Given the description of an element on the screen output the (x, y) to click on. 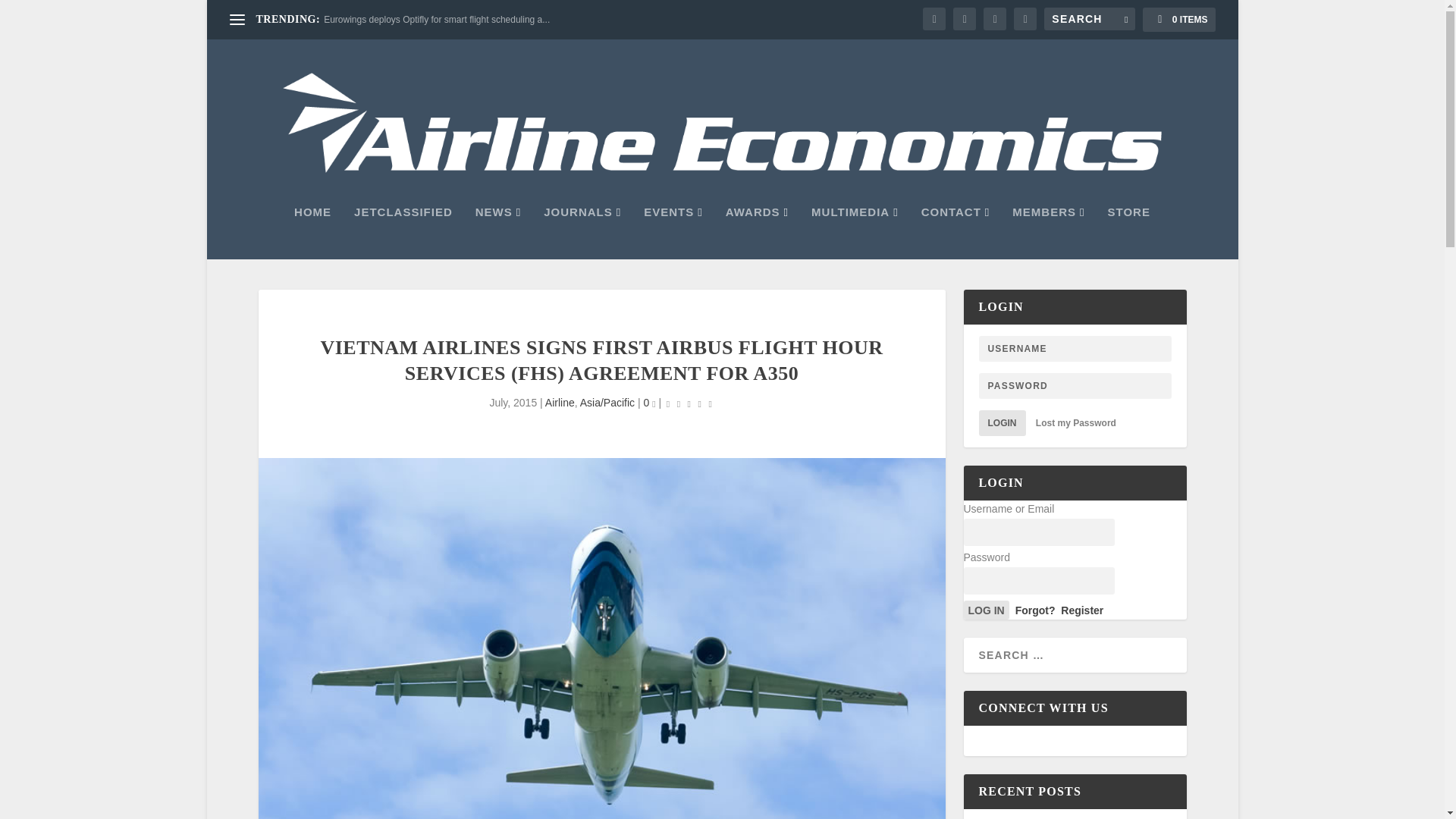
JOURNALS (582, 232)
Rating: 0.00 (688, 403)
JETCLASSIFIED (402, 232)
log in (985, 609)
Eurowings deploys Optifly for smart flight scheduling a... (436, 19)
